Given the description of an element on the screen output the (x, y) to click on. 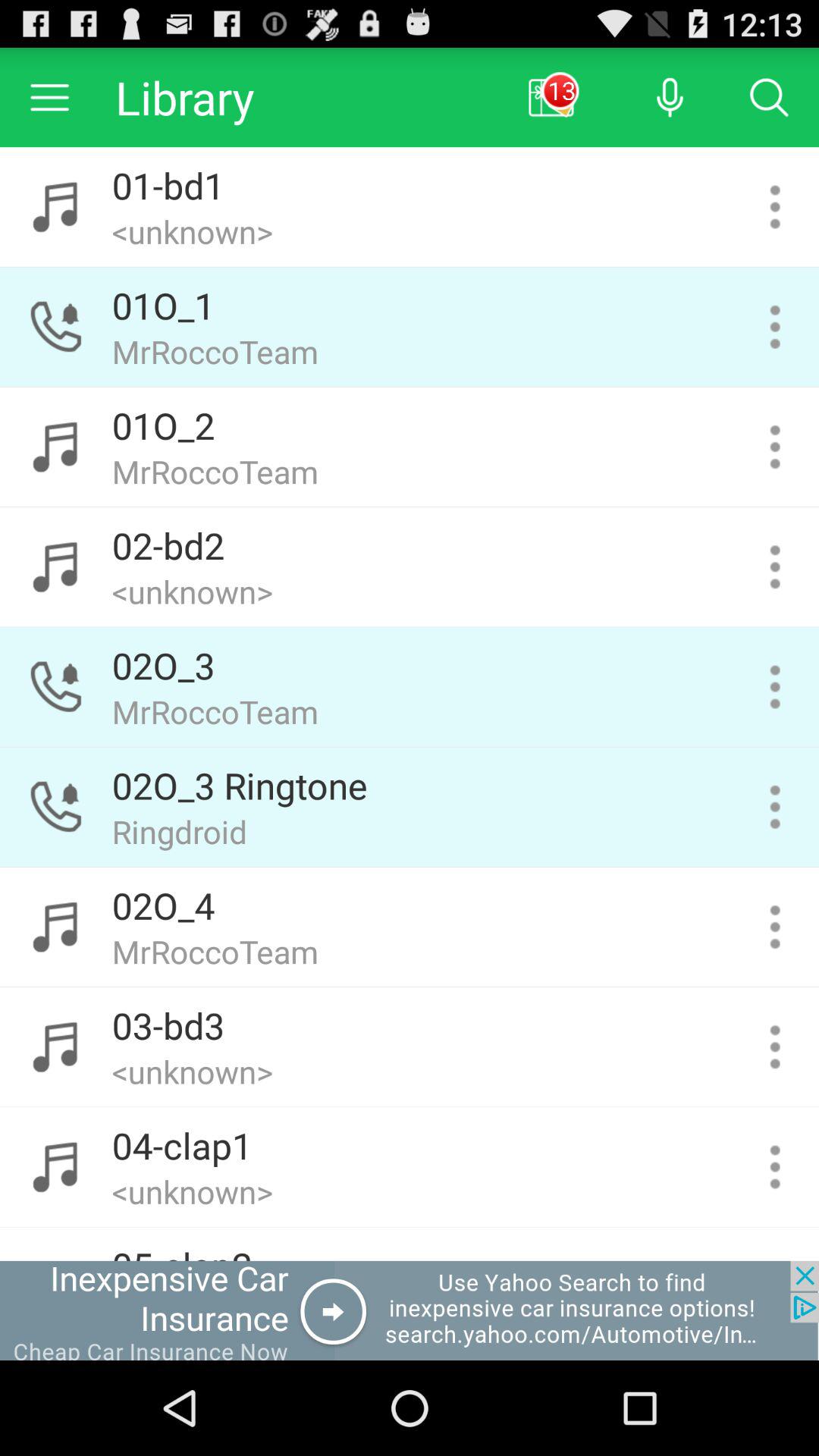
go to more information (775, 926)
